Given the description of an element on the screen output the (x, y) to click on. 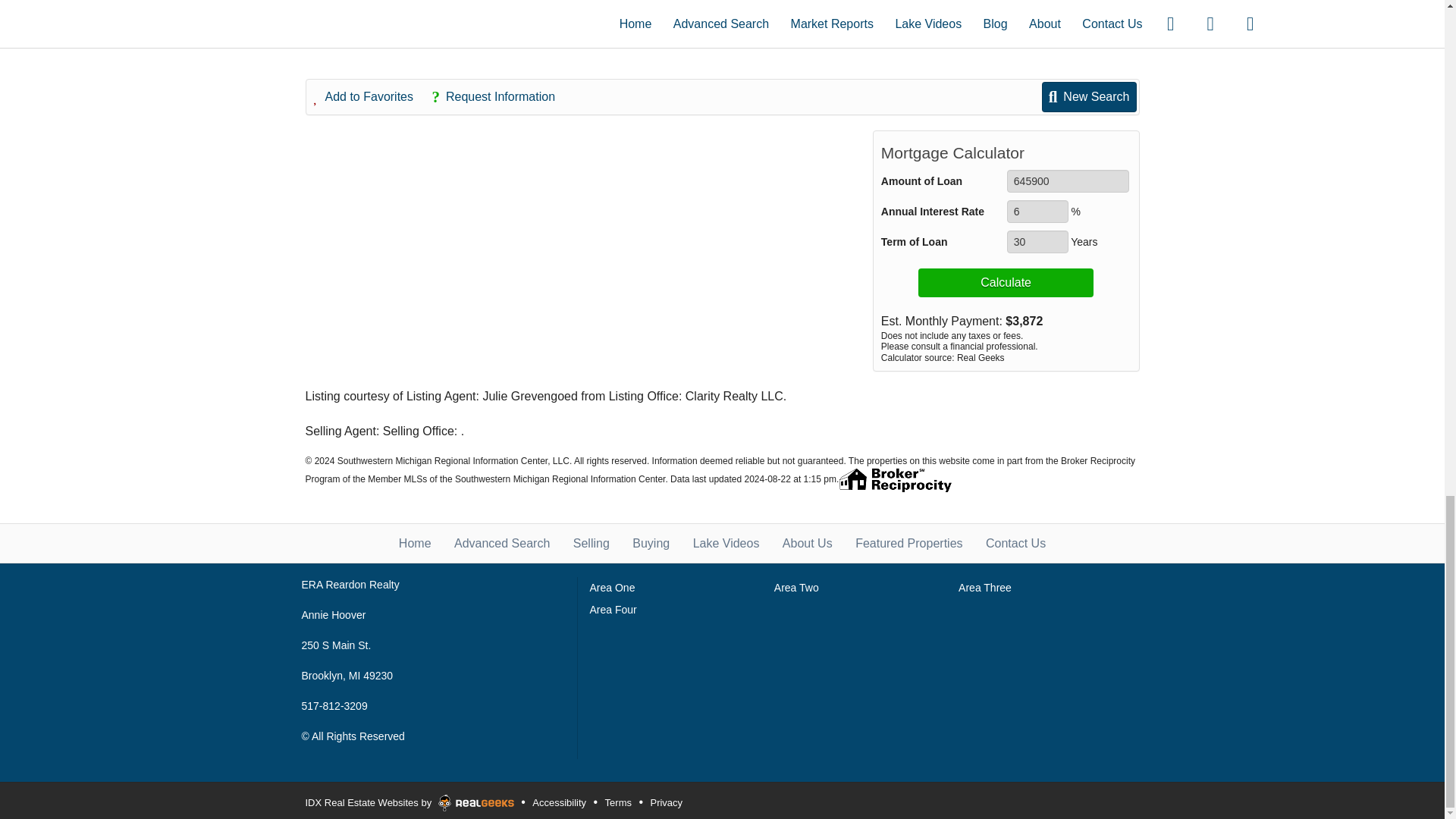
645900 (1068, 180)
30 (1037, 241)
6 (1037, 210)
